Given the description of an element on the screen output the (x, y) to click on. 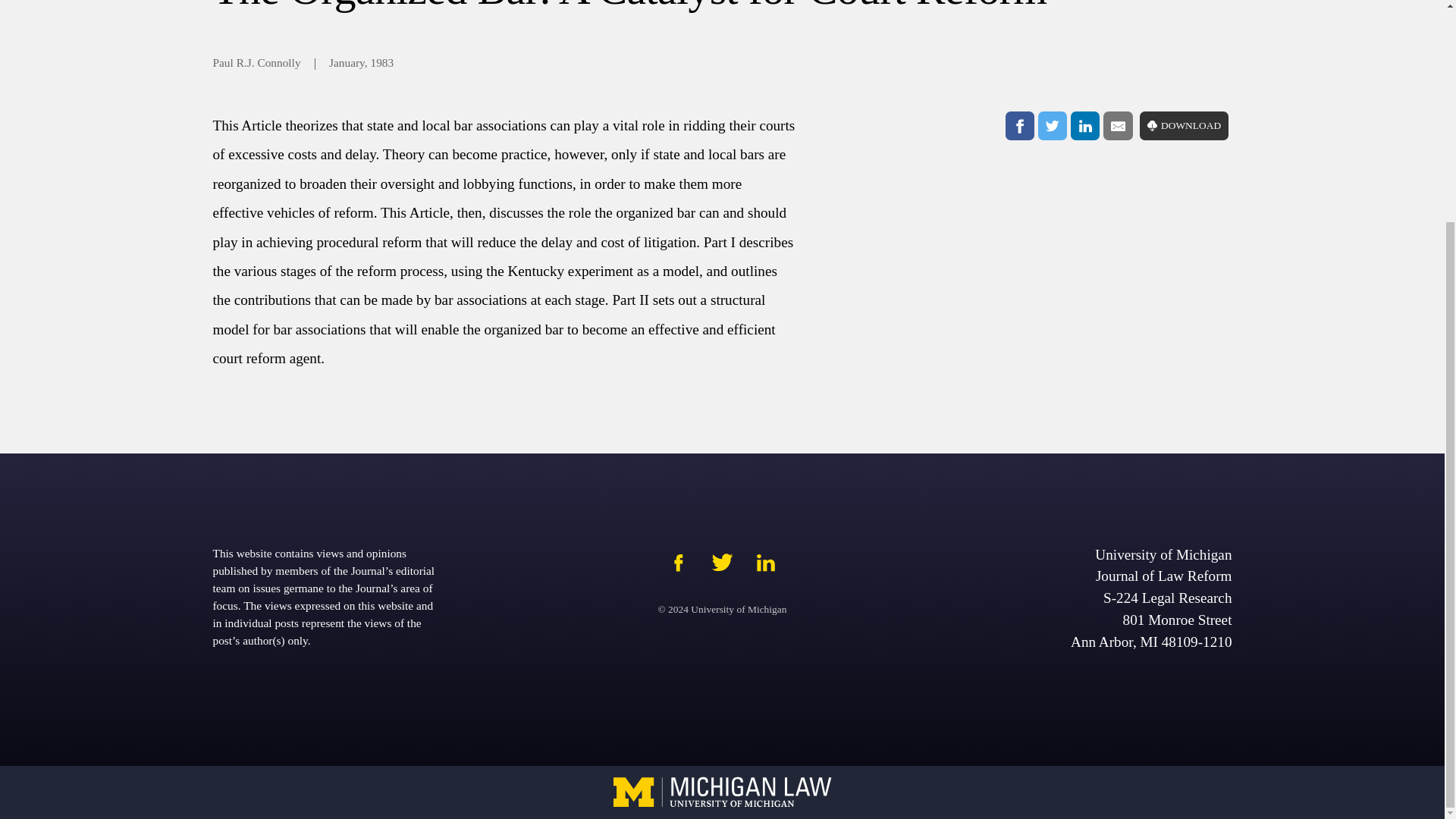
LinkedIn (1084, 125)
Facebook (1019, 125)
Twitter (1052, 125)
E-Mail (1117, 125)
DOWNLOAD (1184, 125)
